Given the description of an element on the screen output the (x, y) to click on. 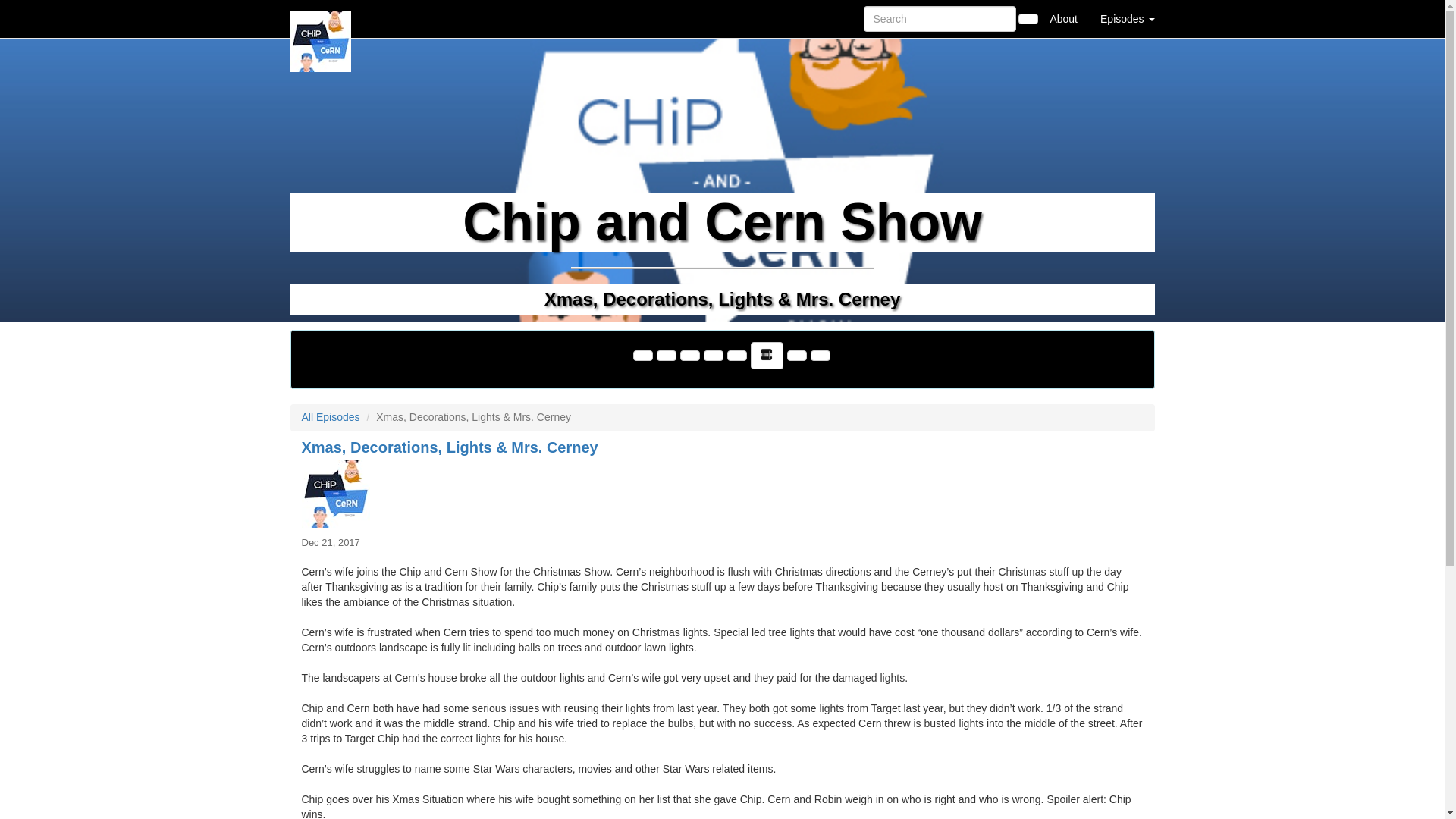
About (1063, 18)
Home Page (320, 18)
Episodes (1127, 18)
